Given the description of an element on the screen output the (x, y) to click on. 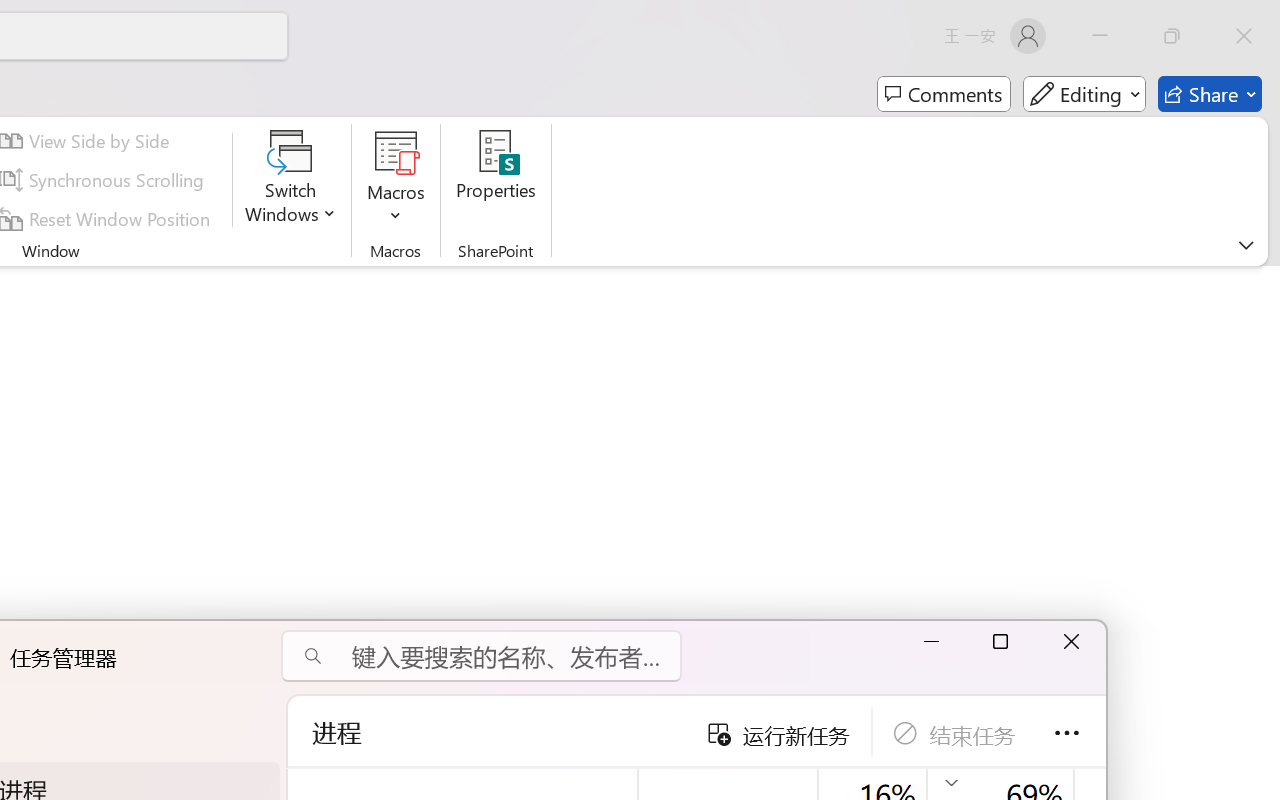
Properties (496, 179)
Mode (1083, 94)
Ribbon Display Options (1246, 245)
Macros (395, 179)
Switch Windows (290, 179)
View Macros (395, 151)
